Given the description of an element on the screen output the (x, y) to click on. 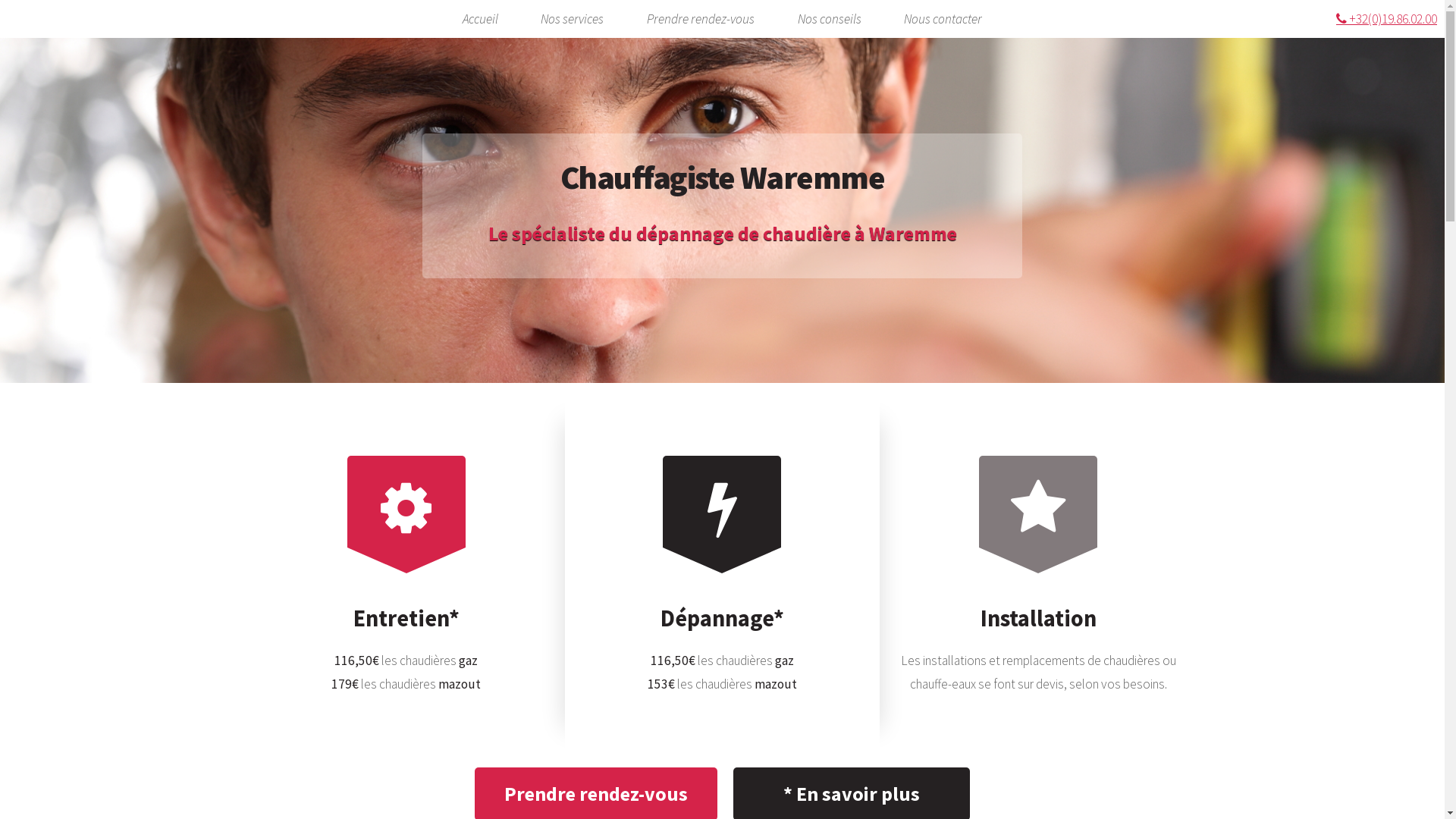
 +32(0)19.86.02.00 Element type: text (1386, 18)
Nous contacter Element type: text (943, 19)
Prendre rendez-vous Element type: text (700, 19)
Chauffagiste Waremme Element type: text (722, 176)
Nos services Element type: text (571, 19)
Accueil Element type: text (480, 19)
Nos conseils Element type: text (829, 19)
